Given the description of an element on the screen output the (x, y) to click on. 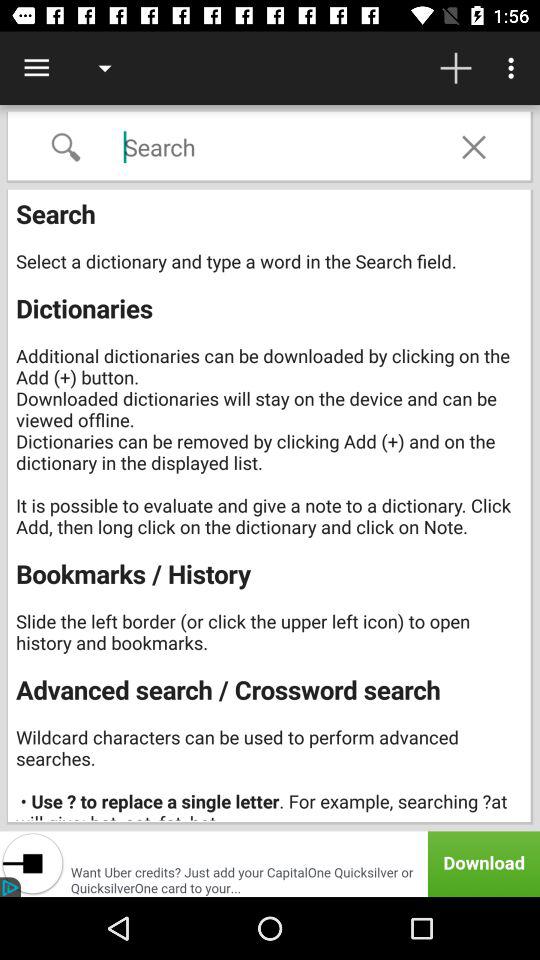
flip to the search select a (271, 507)
